Given the description of an element on the screen output the (x, y) to click on. 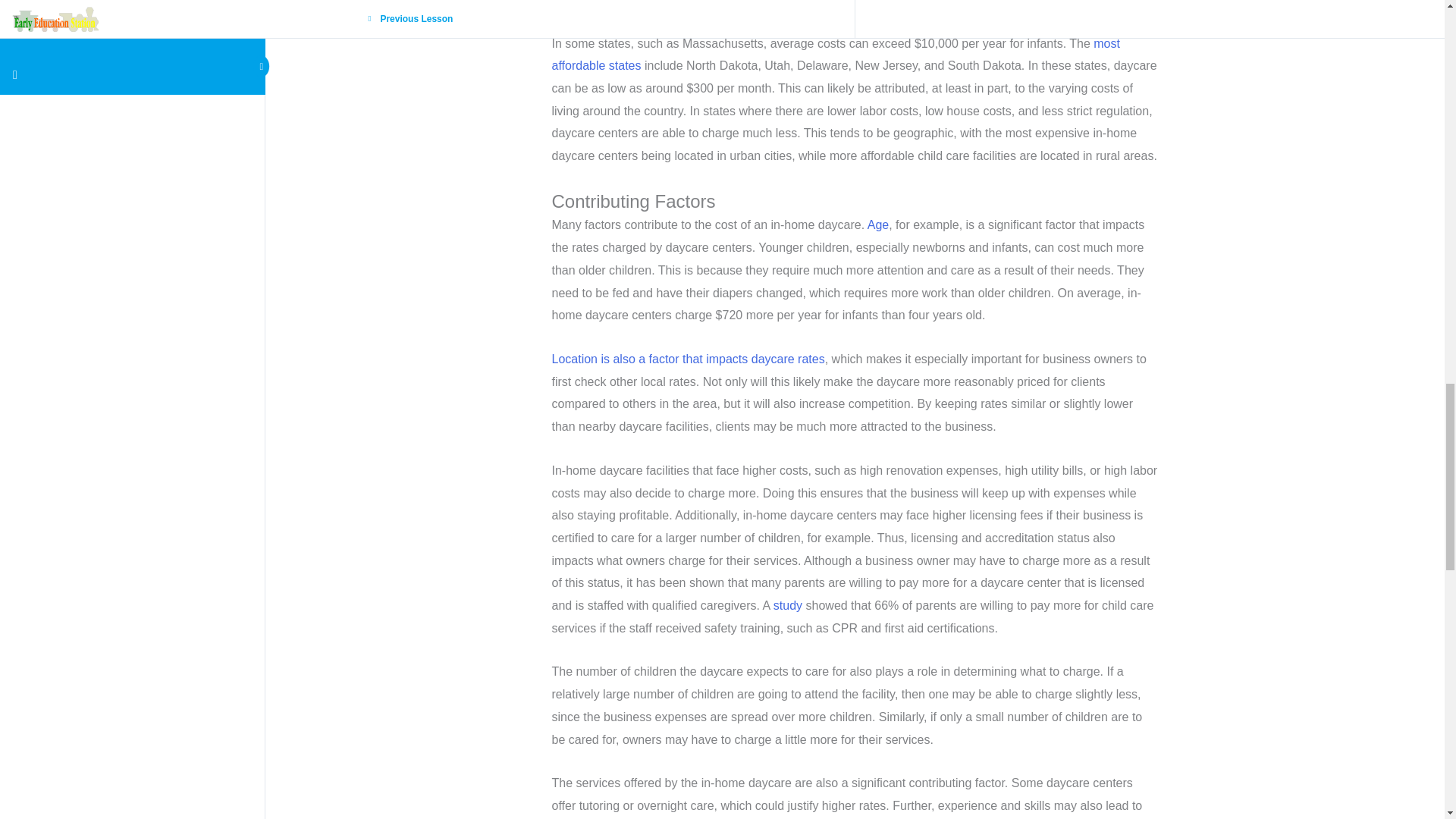
study (787, 604)
Age (877, 224)
most affordable states (835, 54)
Location is also a factor that impacts daycare rates (688, 358)
